Given the description of an element on the screen output the (x, y) to click on. 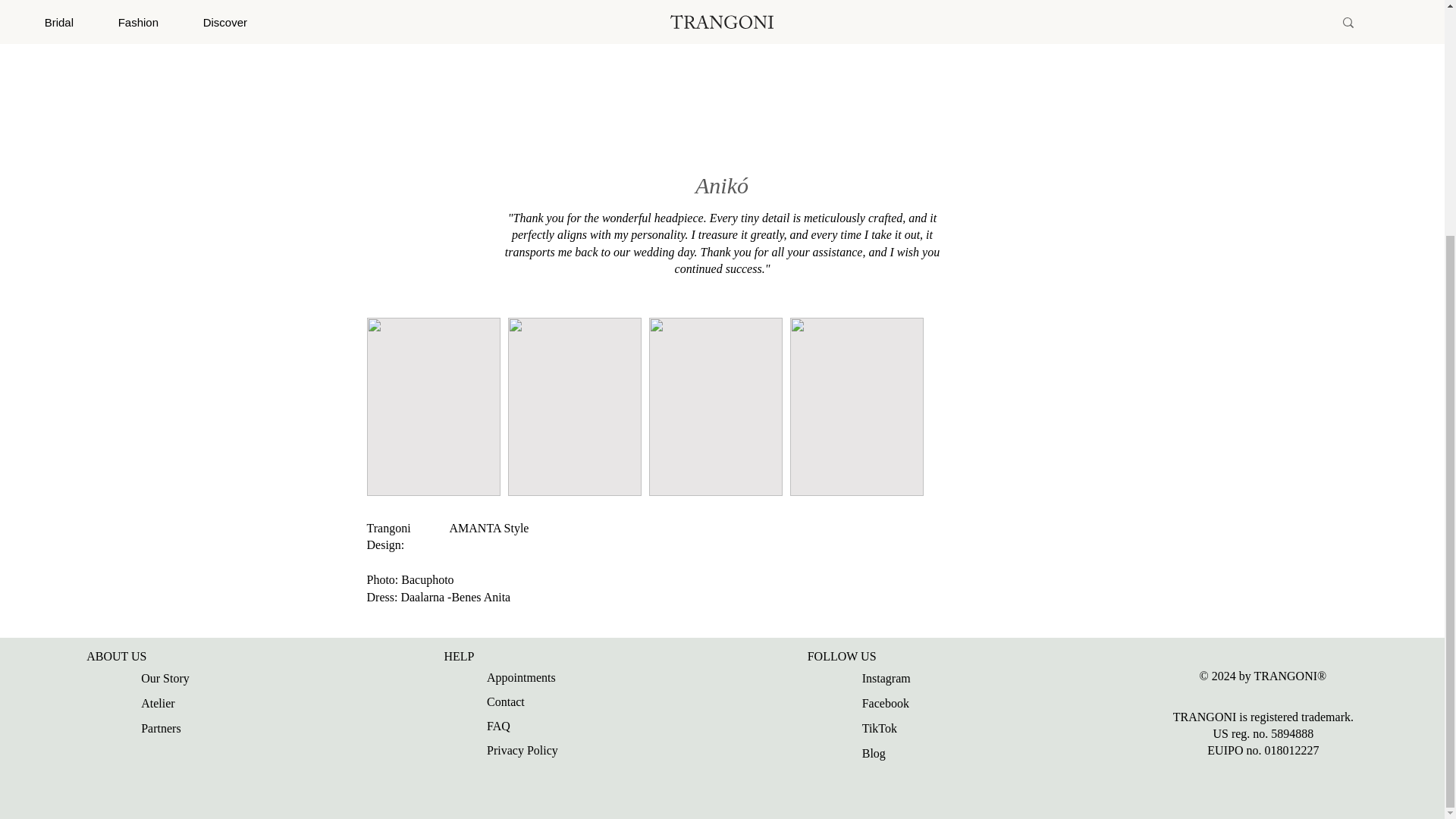
Privacy Policy (549, 751)
Contact (549, 702)
Blog (896, 753)
Atelier (174, 703)
Appointments (549, 678)
TikTok (896, 729)
Partners (174, 729)
Facebook (896, 703)
FAQ (549, 726)
Our Story (174, 679)
